Given the description of an element on the screen output the (x, y) to click on. 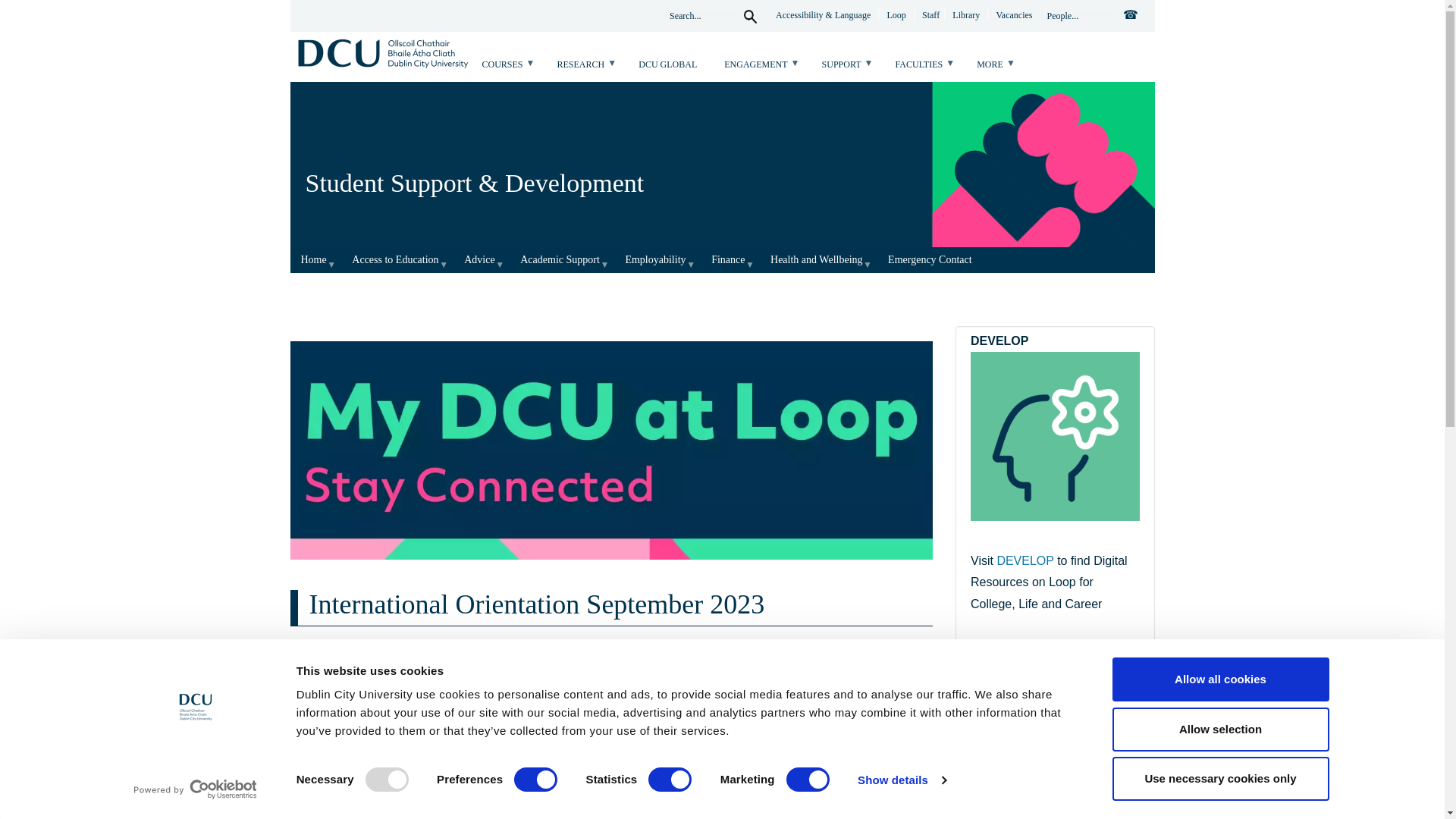
People... (1077, 15)
Search... (700, 15)
Show details (900, 780)
People... (1077, 15)
